Given the description of an element on the screen output the (x, y) to click on. 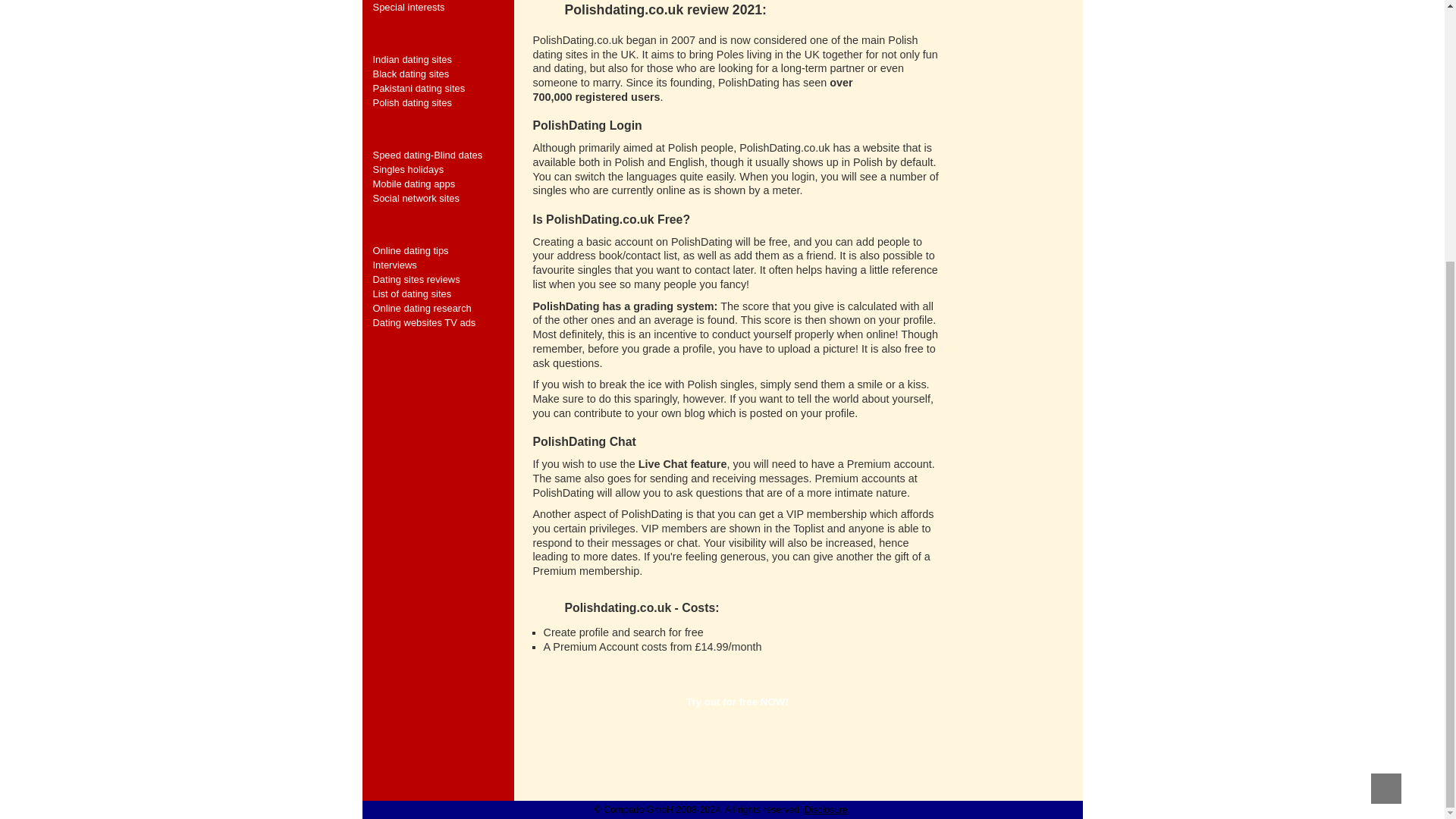
Dating websites TV ads (442, 322)
Social network sites (442, 197)
List of dating sites (442, 293)
Black dating sites reviews UK (442, 73)
Online dating tips (442, 250)
Special interest dating sites reviews UK (442, 7)
Special interests (442, 7)
Polish dating sites reviews UK (442, 102)
Speed dating-Blind dates sites UK (442, 155)
Indian dating sites (442, 59)
